Given the description of an element on the screen output the (x, y) to click on. 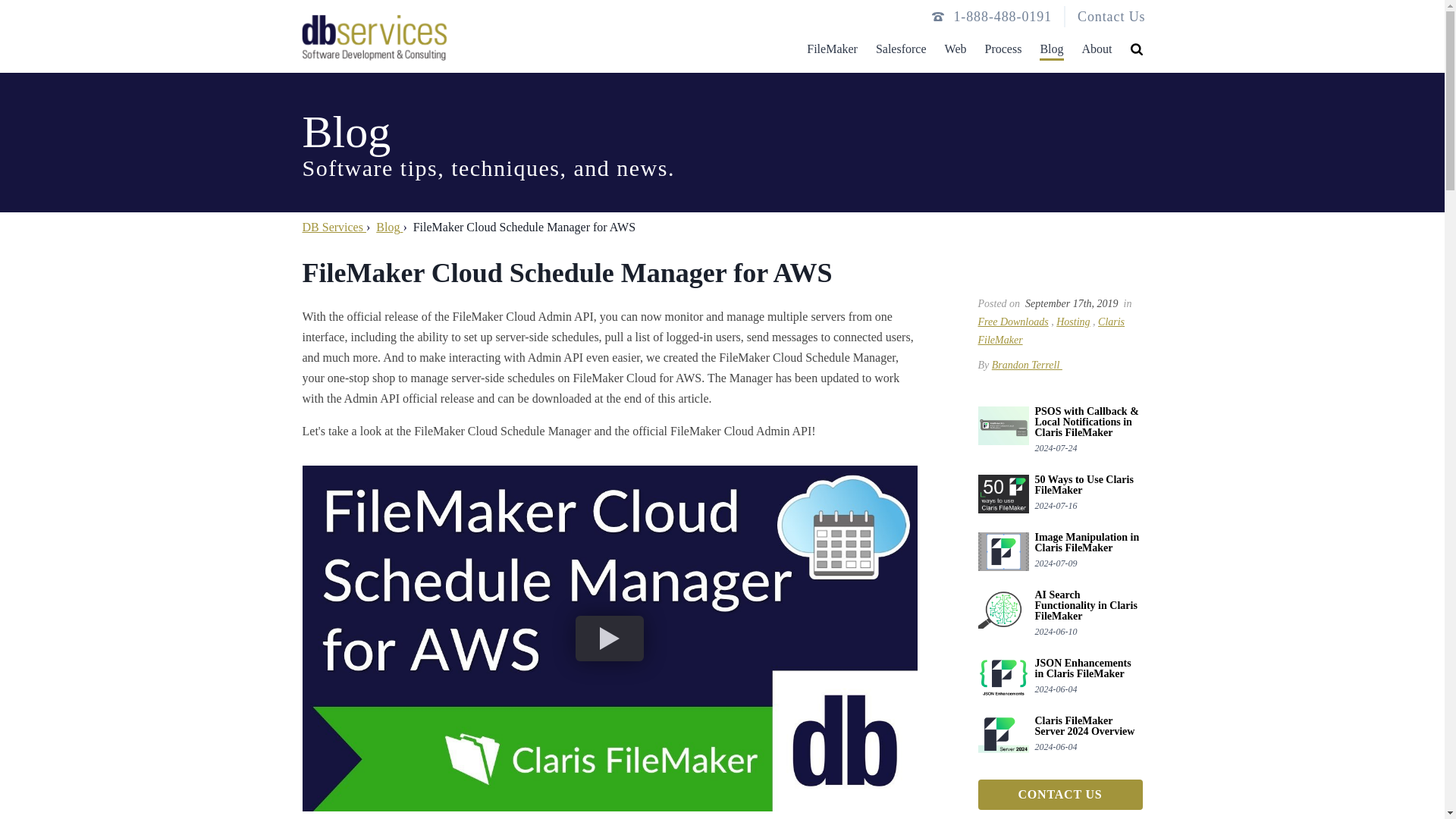
Contact Us (1111, 16)
Salesforce (901, 45)
1-888-488-0191 (1002, 16)
FileMaker (831, 45)
